Given the description of an element on the screen output the (x, y) to click on. 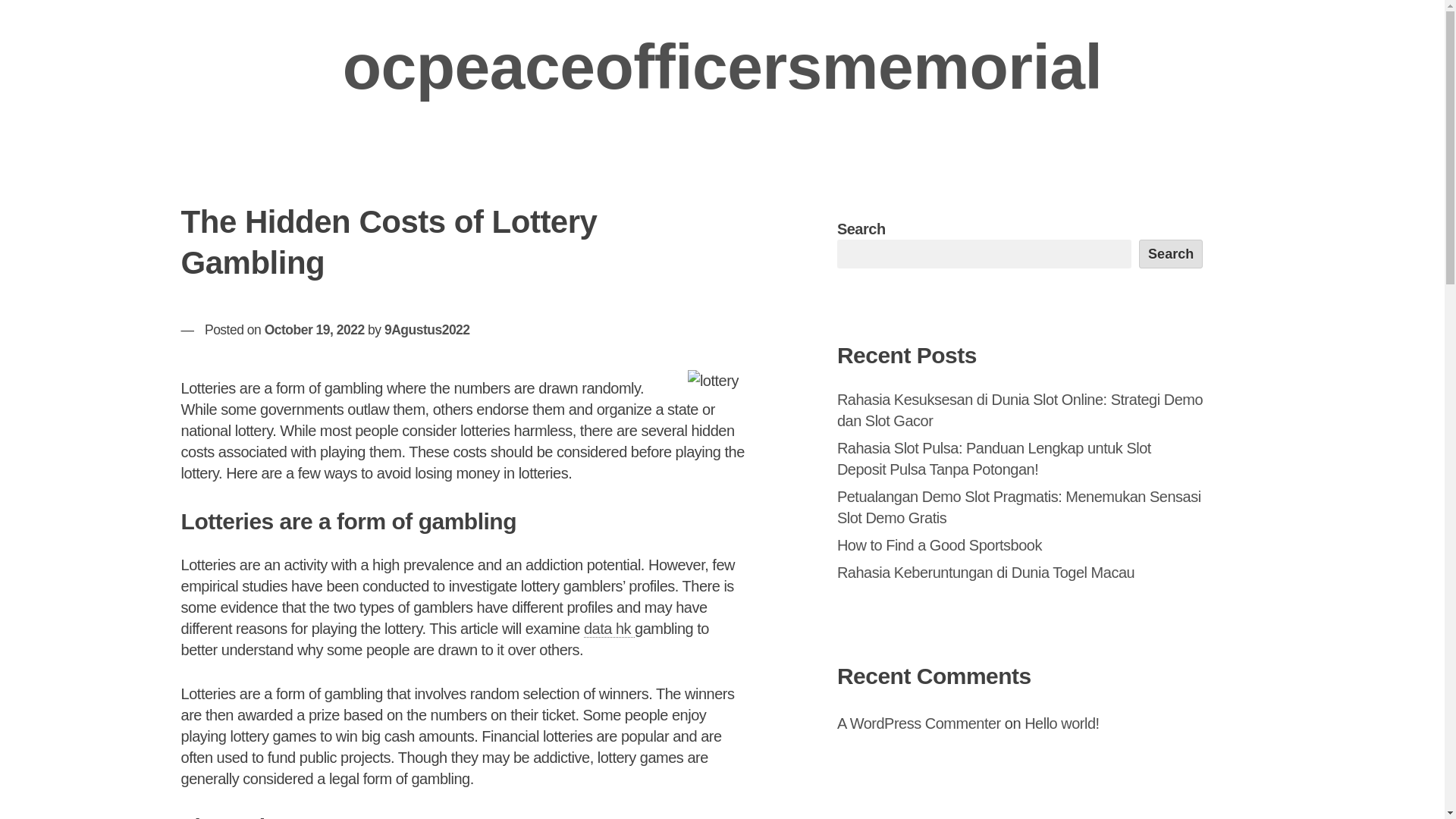
Rahasia Keberuntungan di Dunia Togel Macau (985, 572)
Search (1171, 253)
Hello world! (1062, 723)
A WordPress Commenter (919, 723)
ocpeaceofficersmemorial (722, 66)
How to Find a Good Sportsbook (939, 545)
data hk (608, 628)
October 19, 2022 (314, 329)
9Agustus2022 (427, 329)
